Given the description of an element on the screen output the (x, y) to click on. 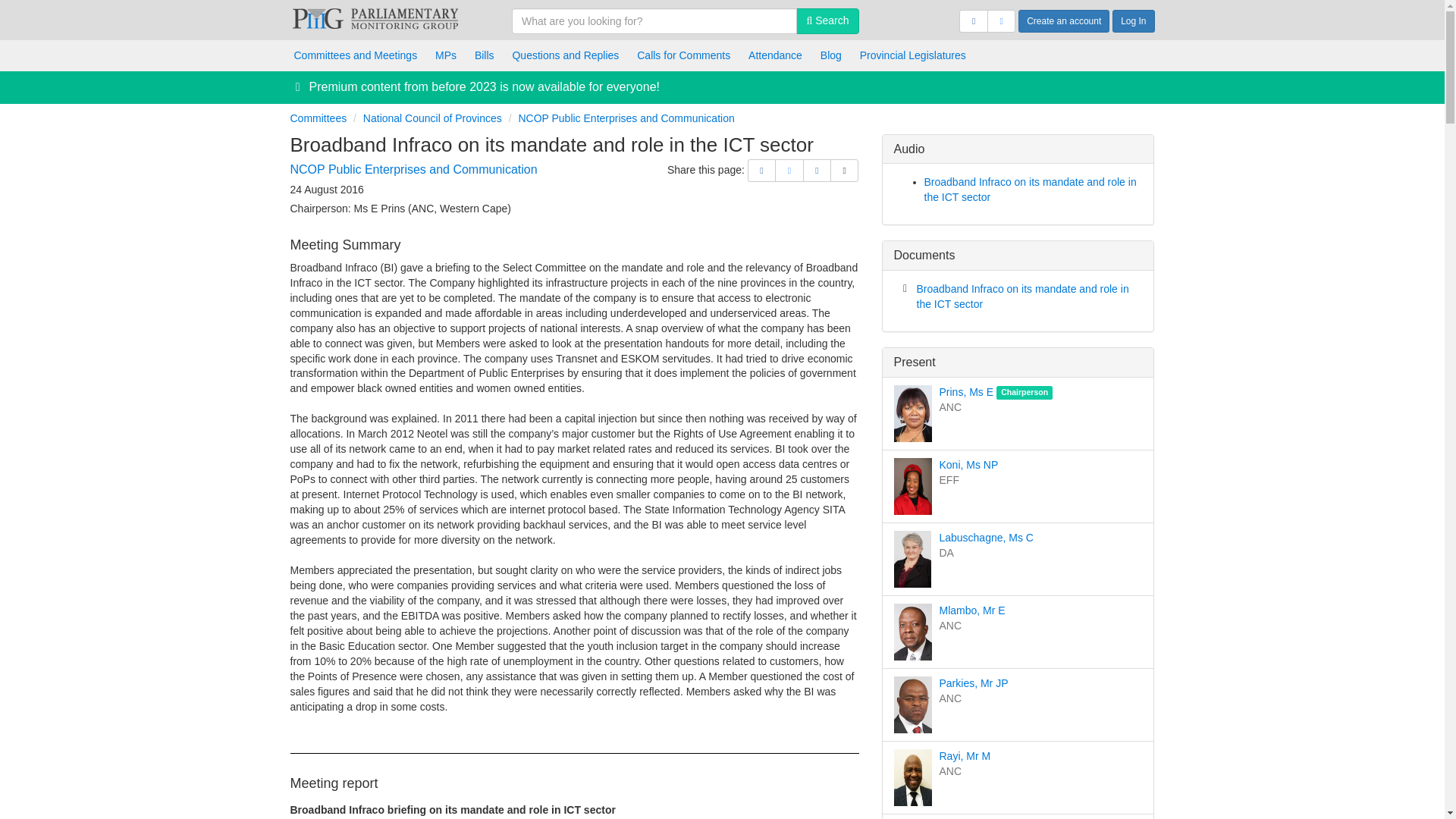
Committees (317, 118)
Provincial Legislatures (912, 55)
Log In (1133, 20)
Committees and Meetings (355, 55)
Calls for Comments (683, 55)
Search (827, 21)
MPs (446, 55)
Attendance (775, 55)
NCOP Public Enterprises and Communication (625, 118)
Bills (484, 55)
National Council of Provinces (432, 118)
Create an account (1063, 20)
Questions and Replies (564, 55)
Blog (830, 55)
